Given the description of an element on the screen output the (x, y) to click on. 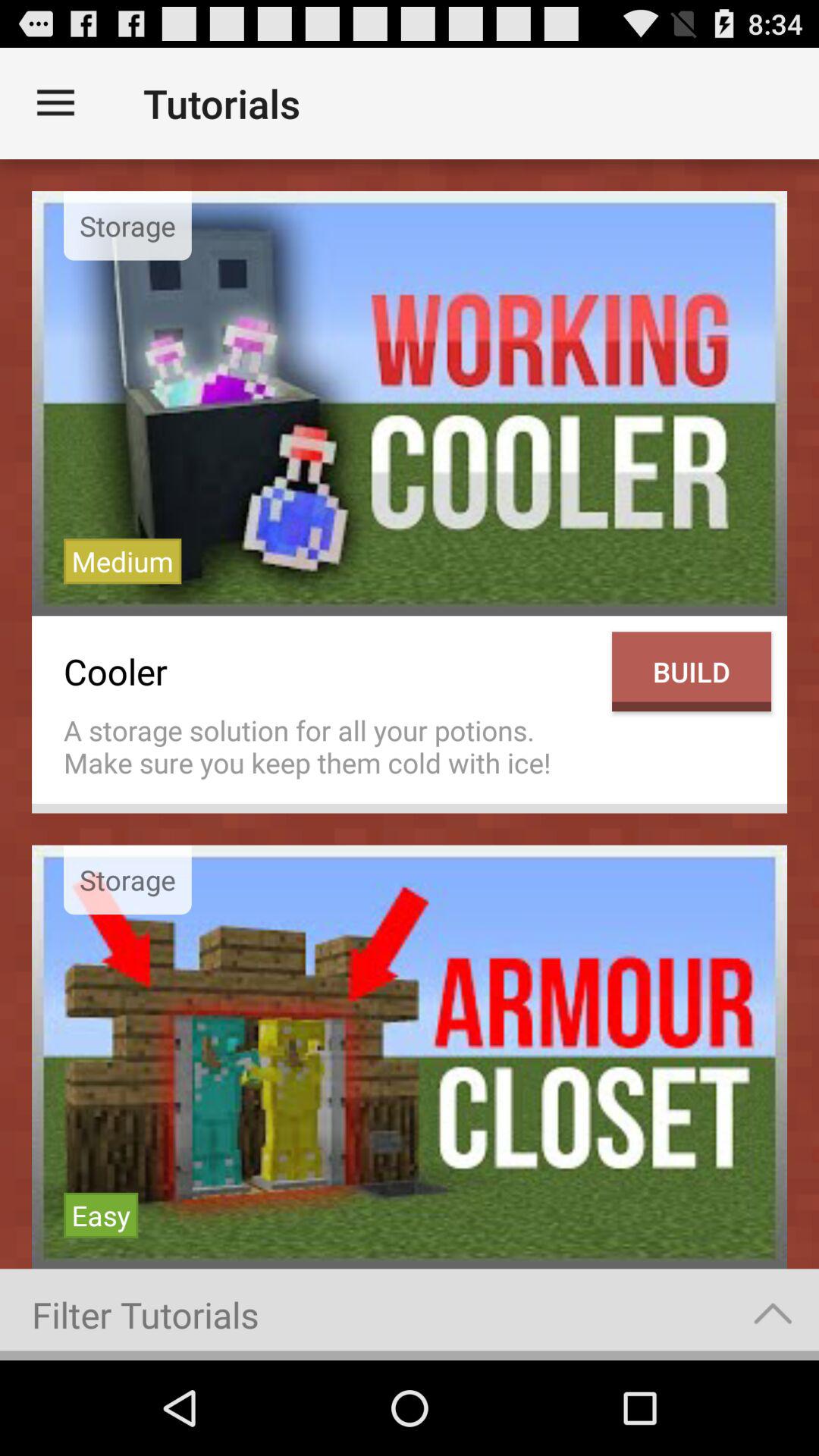
turn on build icon (691, 671)
